Given the description of an element on the screen output the (x, y) to click on. 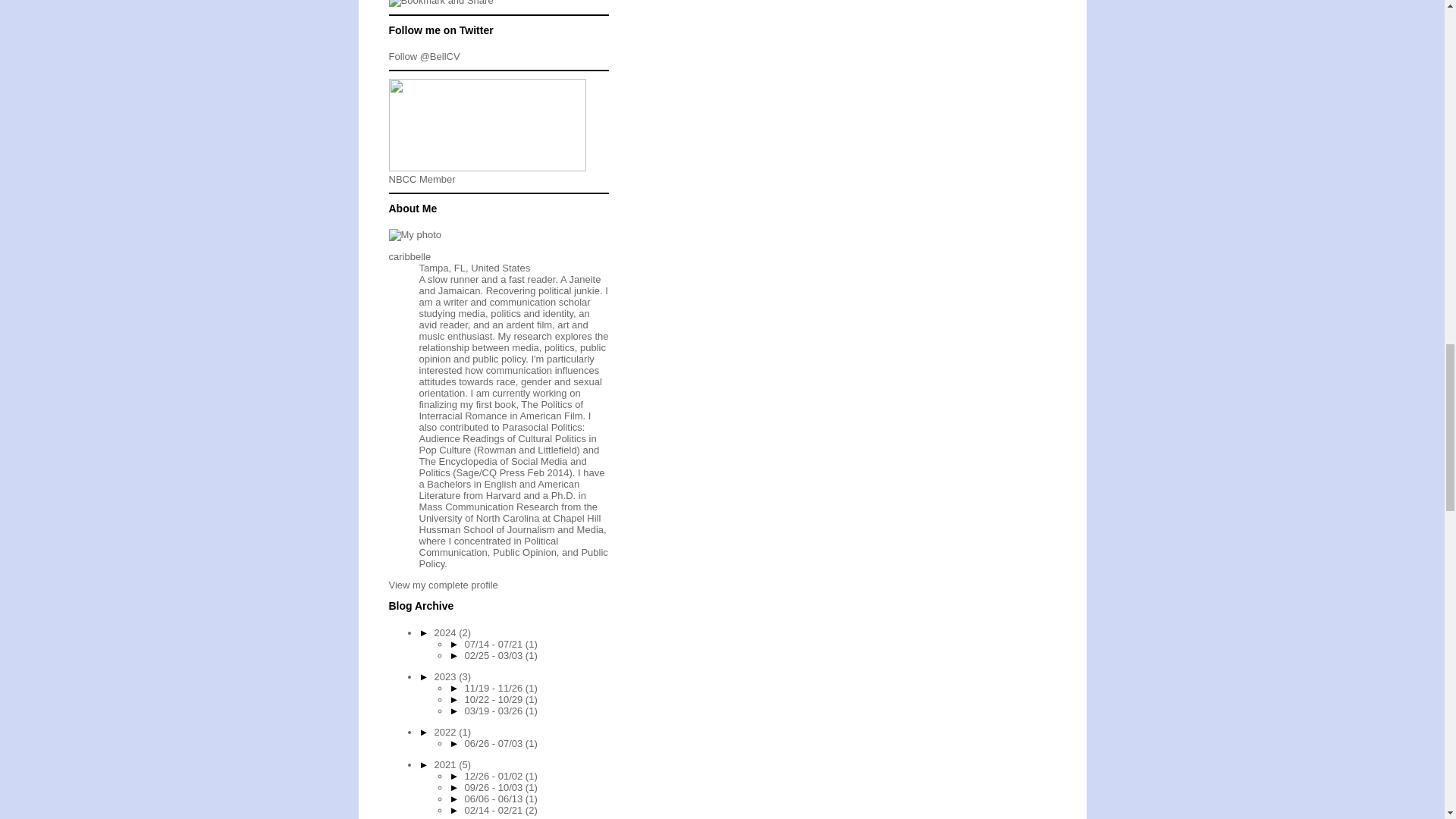
2023 (446, 676)
2024 (446, 632)
caribbelle (409, 256)
View my complete profile (442, 584)
